Given the description of an element on the screen output the (x, y) to click on. 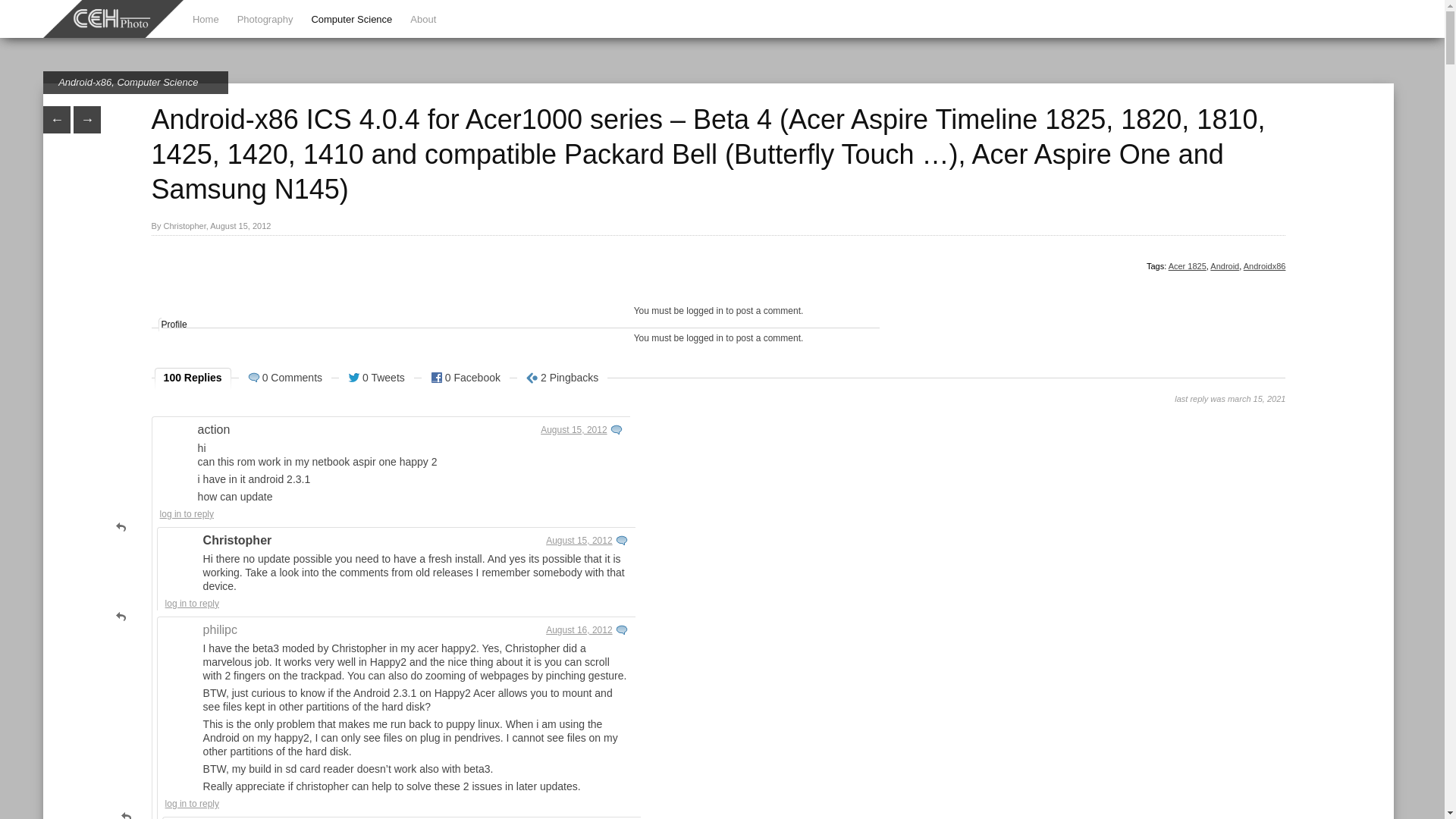
Android (1224, 266)
action (214, 429)
Androidx86 (1264, 266)
Computer Science (351, 19)
Home (205, 19)
About (422, 19)
Android-x86 (85, 81)
logged in (704, 310)
2 Pingbacks (561, 378)
Computer Science (157, 81)
0 Comments (284, 378)
Acer 1825 (1188, 266)
0 Tweets (376, 378)
logged in (704, 337)
0 Facebook (465, 378)
